Given the description of an element on the screen output the (x, y) to click on. 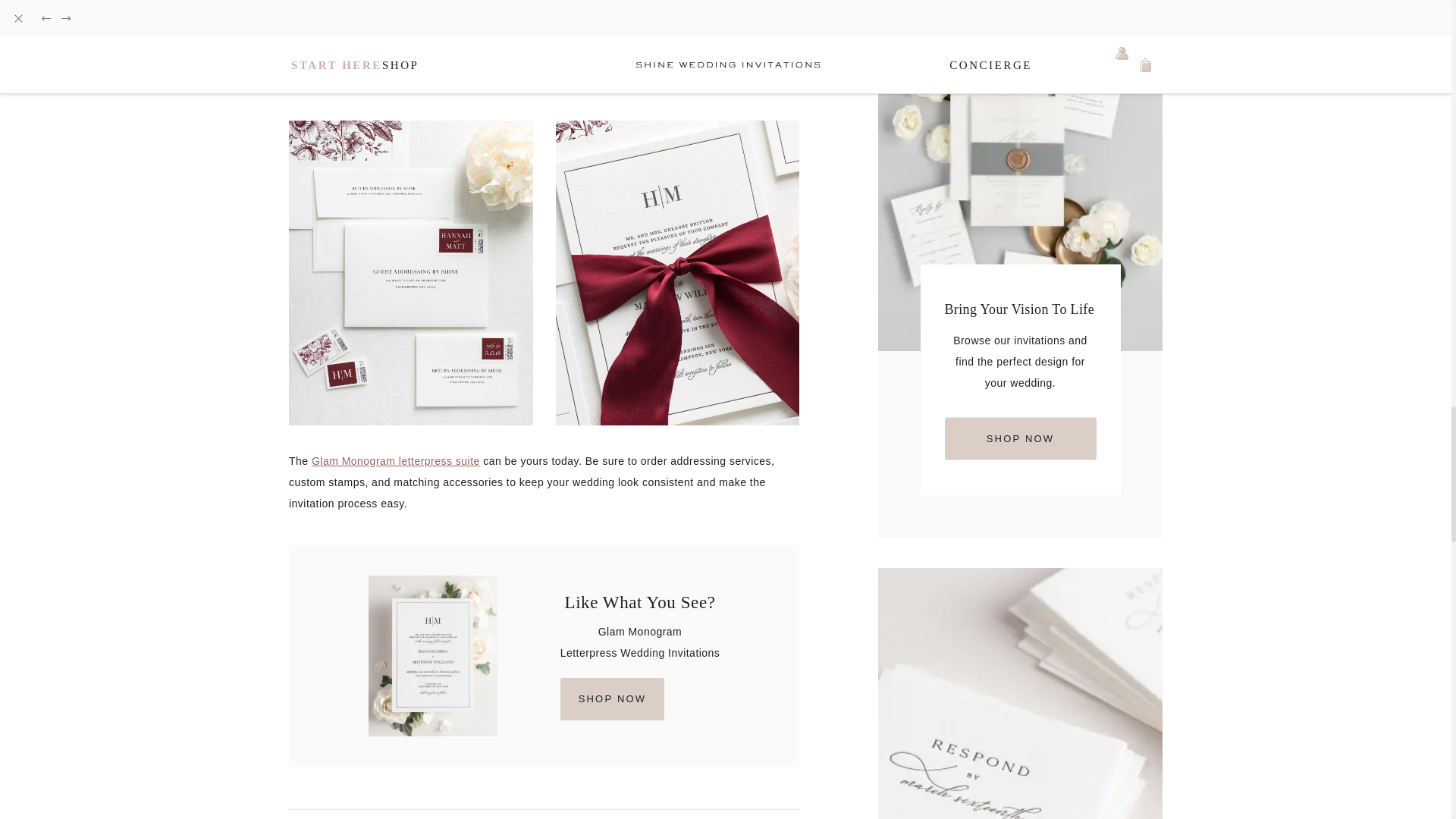
Glam Monogram letterpress suite (395, 460)
SHOP NOW (1020, 438)
Glam Monogram letterpress wedding invitations (443, 22)
SHOP NOW (640, 699)
